Given the description of an element on the screen output the (x, y) to click on. 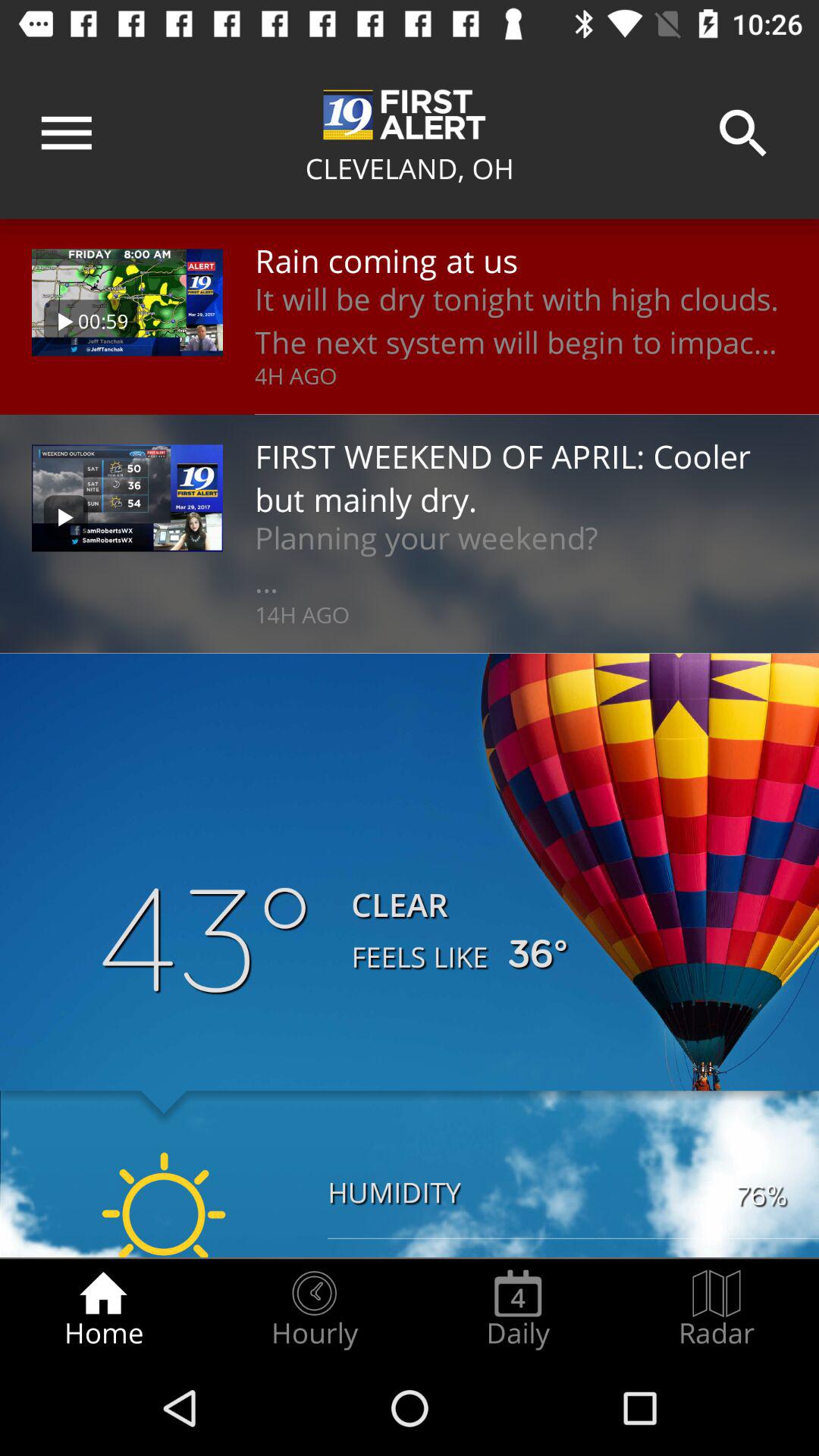
choose icon next to home (314, 1309)
